Given the description of an element on the screen output the (x, y) to click on. 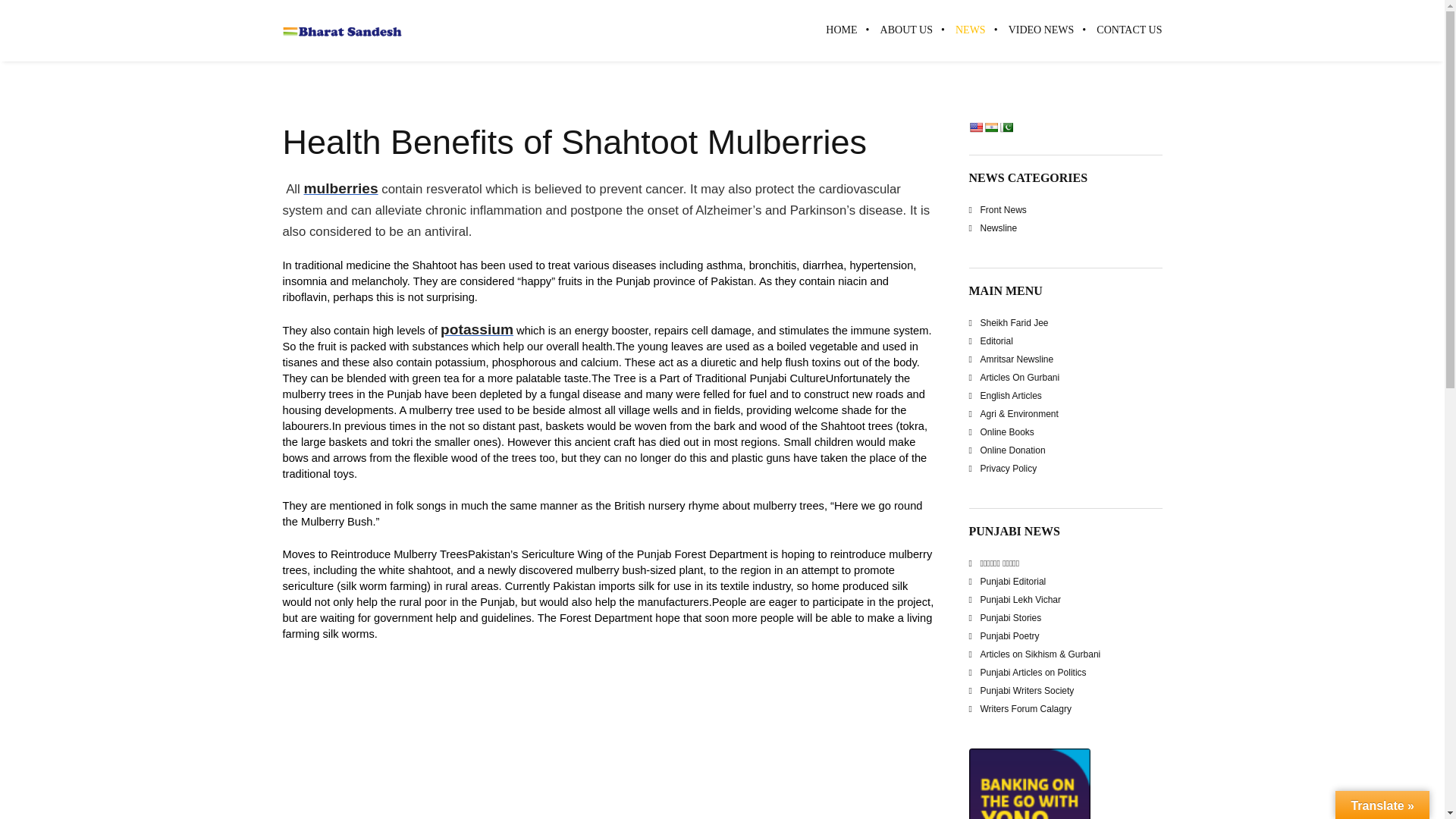
Punjabi Poetry (1009, 635)
English Articles (1010, 395)
Amritsar Newsline (1015, 358)
VIDEO NEWS (1041, 30)
CONTACT US (1122, 30)
Online Books (1006, 431)
Punjabi Articles on Politics (1032, 672)
Punjabi Lekh Vichar (1020, 599)
Sheikh Farid Jee (1013, 322)
Online Donation (1012, 450)
Front News (1002, 209)
Punjabi Stories (1010, 617)
Privacy Policy (1007, 468)
English (975, 127)
Articles On Gurbani (1019, 377)
